Given the description of an element on the screen output the (x, y) to click on. 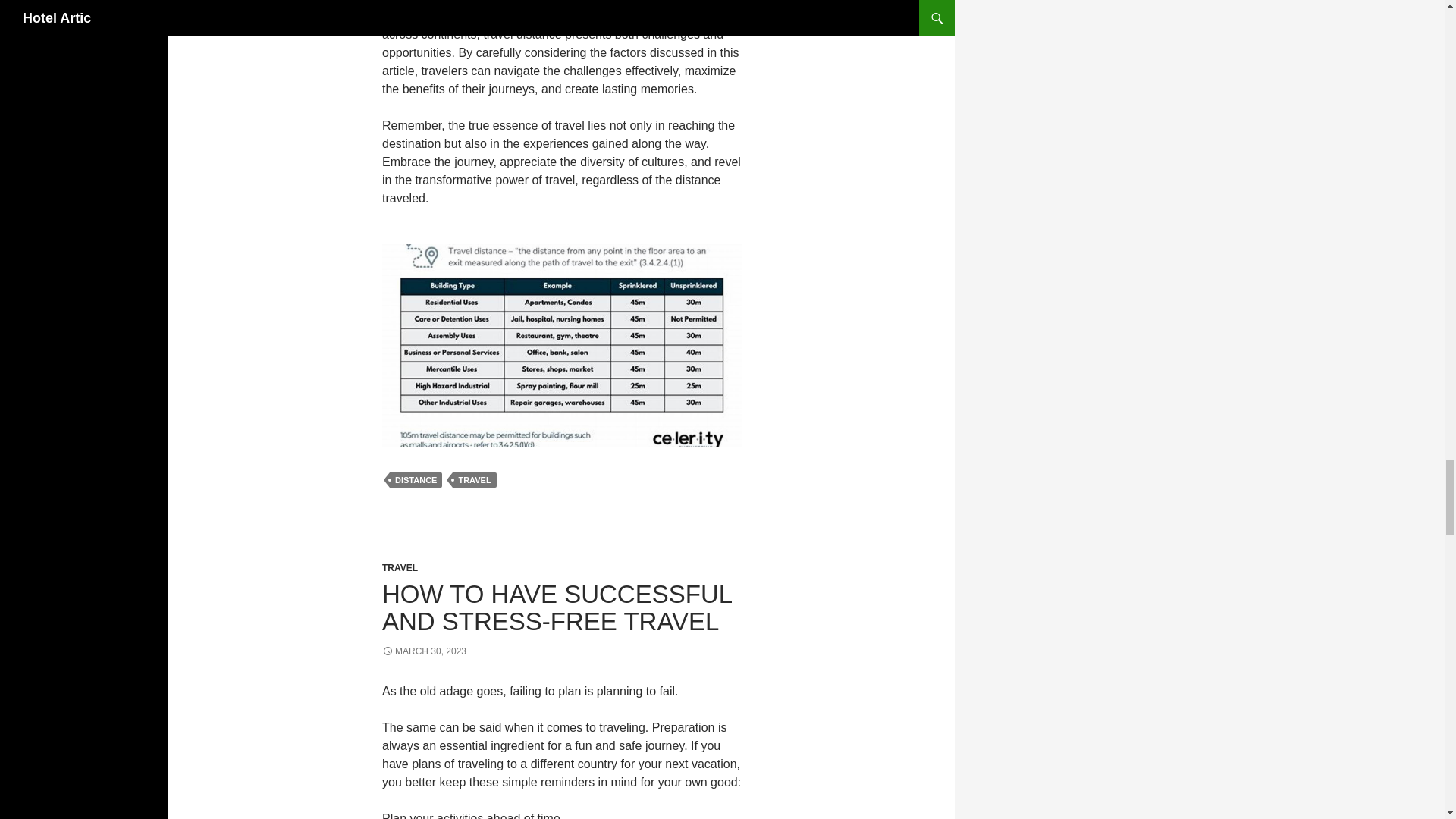
MARCH 30, 2023 (423, 651)
DISTANCE (416, 479)
TRAVEL (474, 479)
HOW TO HAVE SUCCESSFUL AND STRESS-FREE TRAVEL (556, 607)
TRAVEL (399, 567)
